Given the description of an element on the screen output the (x, y) to click on. 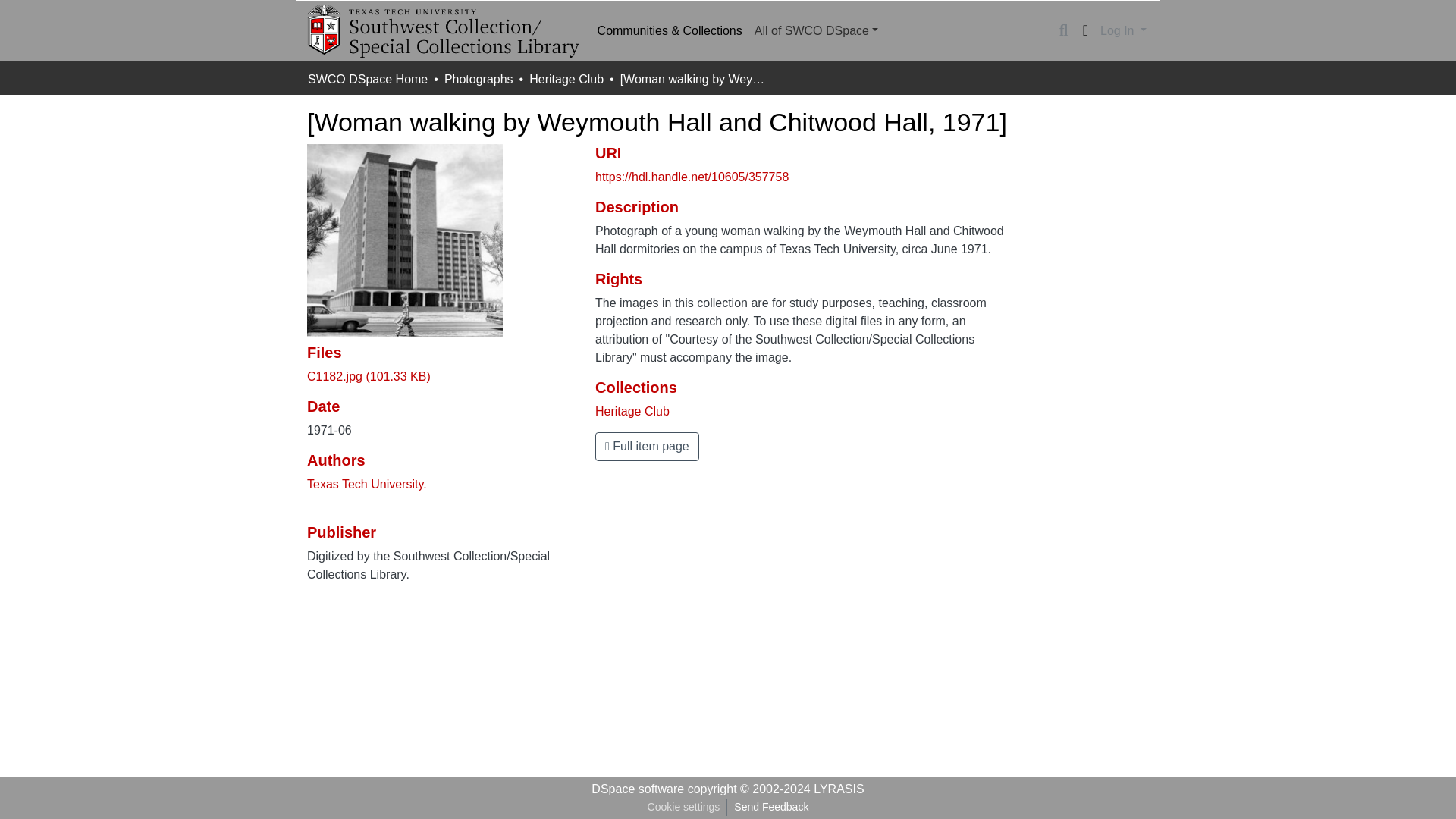
LYRASIS (838, 788)
Log In (1122, 30)
Photographs (478, 79)
Search (1063, 30)
DSpace software (637, 788)
SWCO DSpace Home (367, 79)
Texas Tech University. (366, 483)
Cookie settings (683, 806)
Full item page (646, 446)
Language switch (1084, 30)
